Given the description of an element on the screen output the (x, y) to click on. 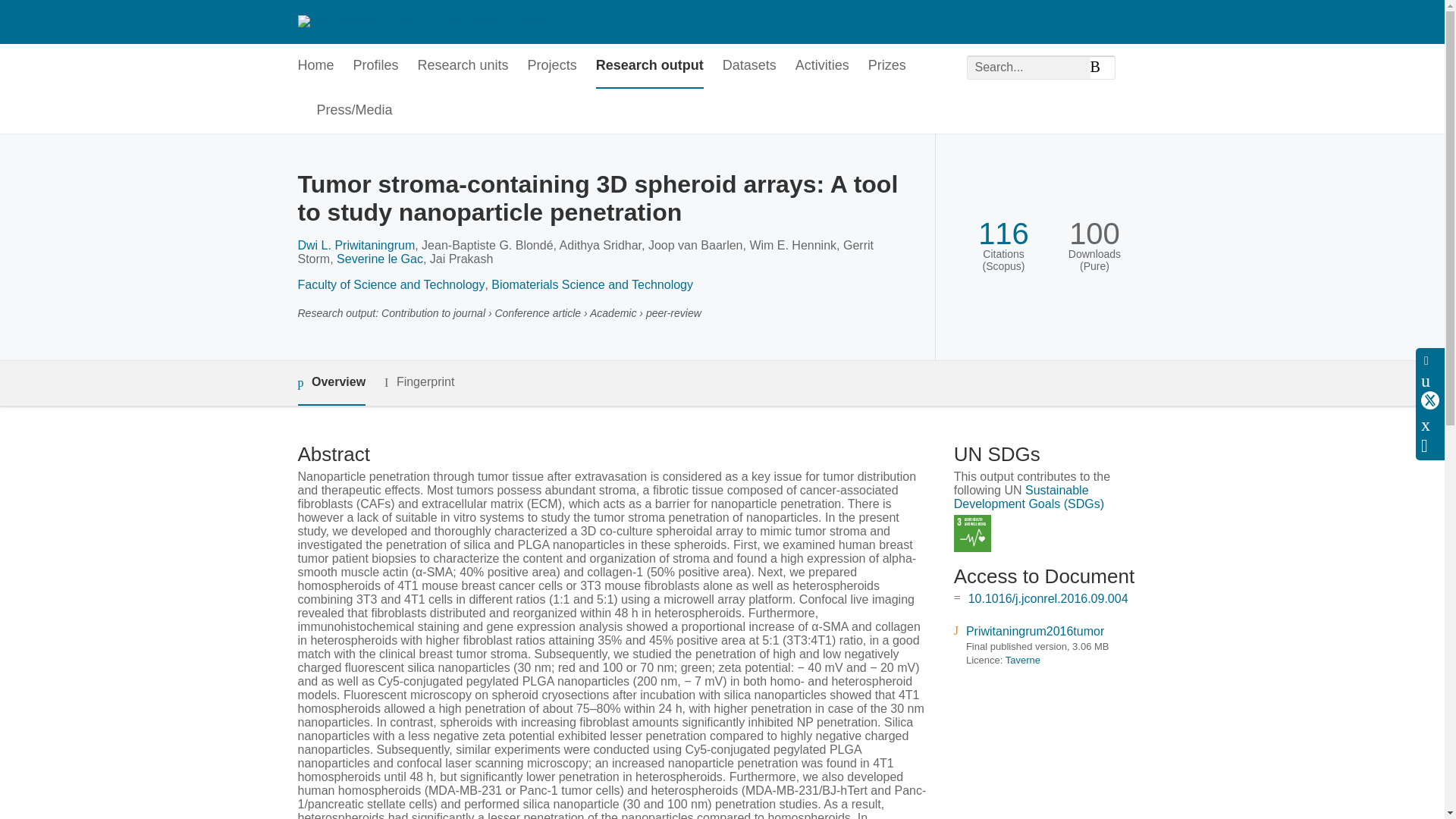
Dwi L. Priwitaningrum (355, 245)
University of Twente Research Information Home (432, 21)
Activities (821, 66)
Research units (462, 66)
SDG 3 - Good Health and Well-being (972, 533)
Overview (331, 383)
Taverne (1023, 659)
Biomaterials Science and Technology (592, 284)
Datasets (749, 66)
Research output (649, 66)
Profiles (375, 66)
Projects (551, 66)
Fingerprint (419, 382)
Severine le Gac (379, 258)
